Given the description of an element on the screen output the (x, y) to click on. 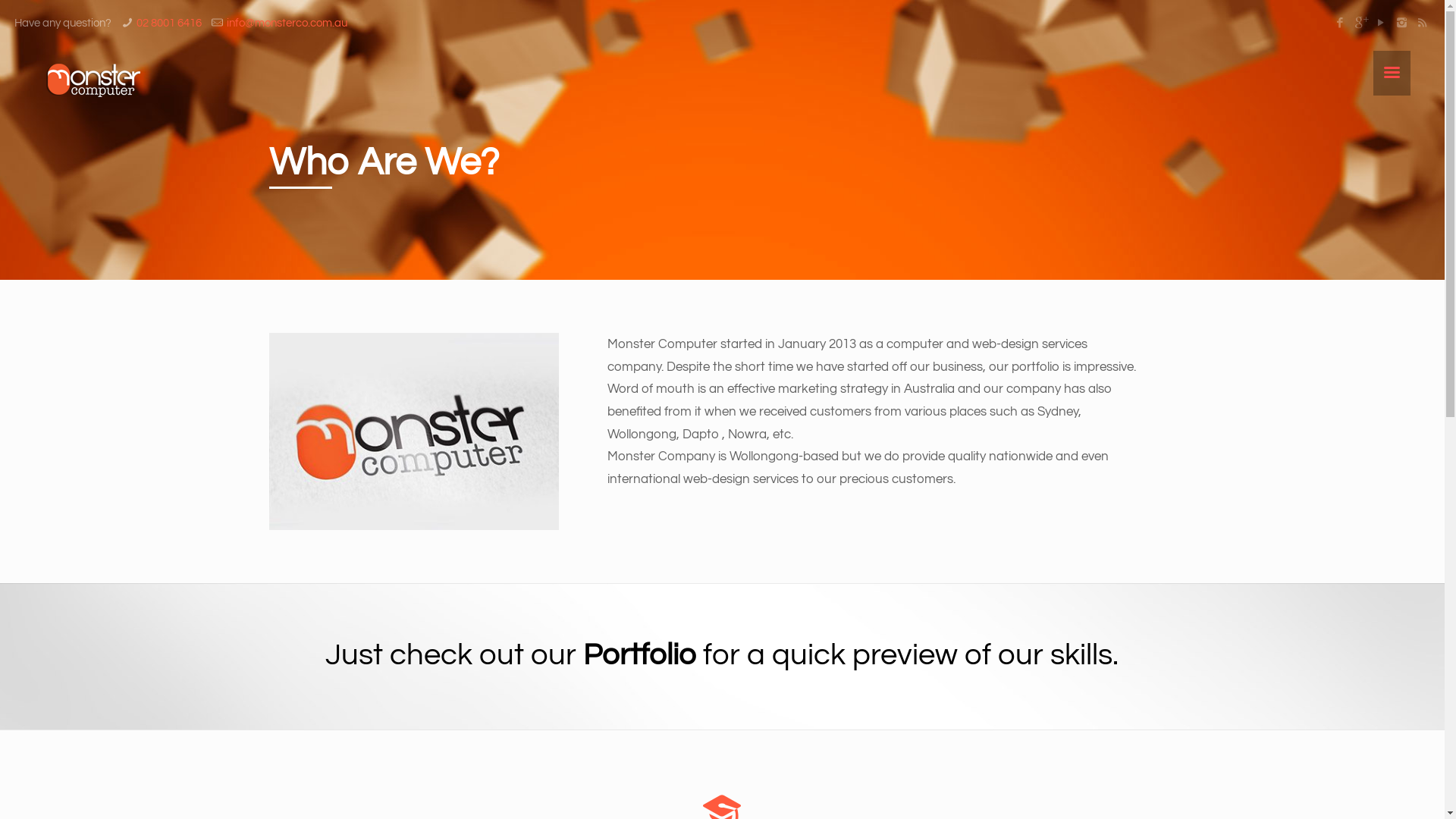
Instagram Element type: hover (1401, 22)
Facebook Element type: hover (1340, 22)
02 8001 6416 Element type: text (168, 22)
Monster Web Design Element type: hover (93, 80)
YouTube Element type: hover (1381, 22)
info@monsterco.com.au Element type: text (286, 22)
Google+ Element type: hover (1360, 22)
Portfolio Element type: text (639, 654)
RSS Element type: hover (1422, 22)
